Given the description of an element on the screen output the (x, y) to click on. 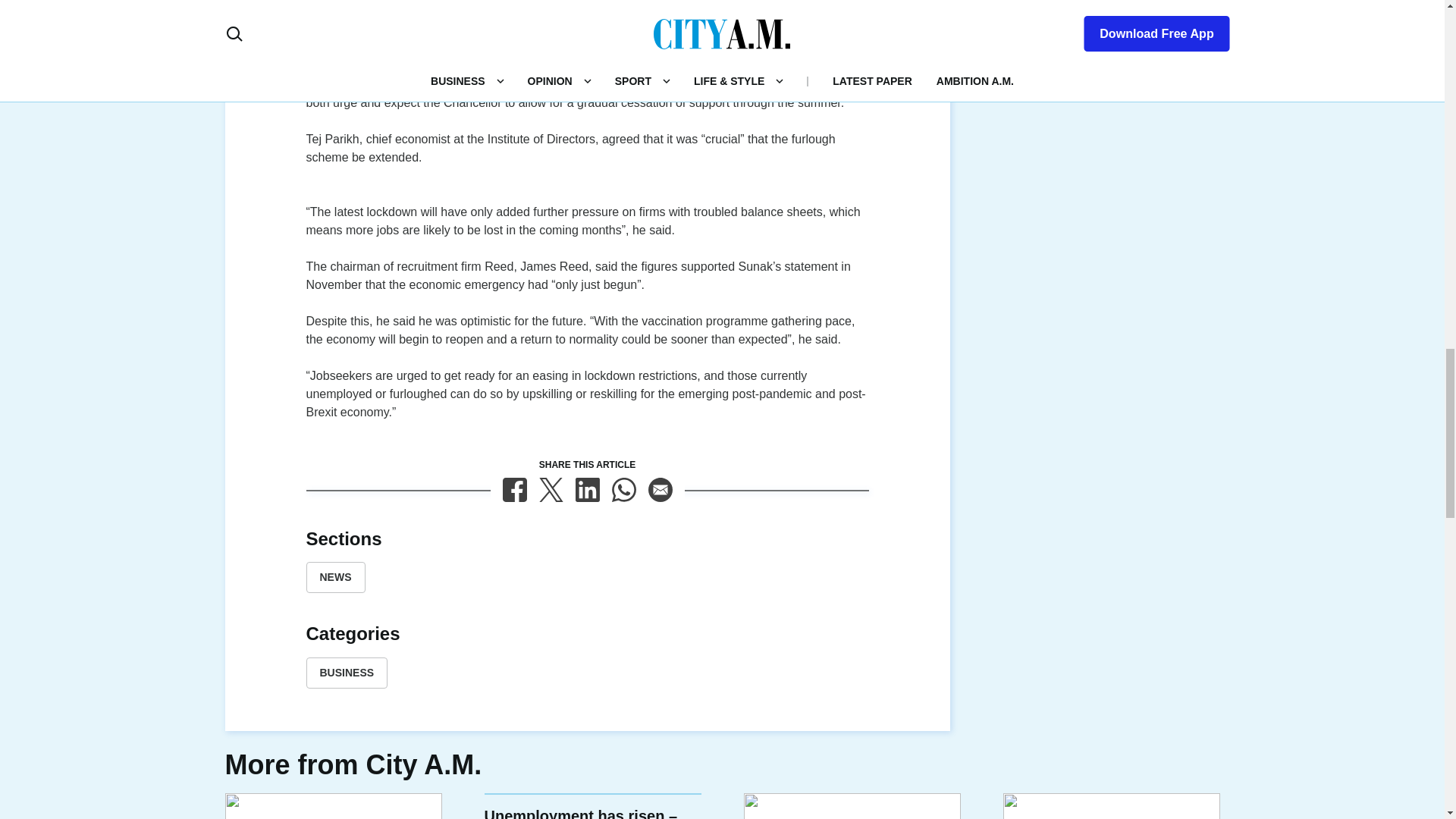
LinkedIn (586, 489)
Facebook (513, 489)
X (550, 489)
Email (659, 489)
WhatsApp (622, 489)
